Given the description of an element on the screen output the (x, y) to click on. 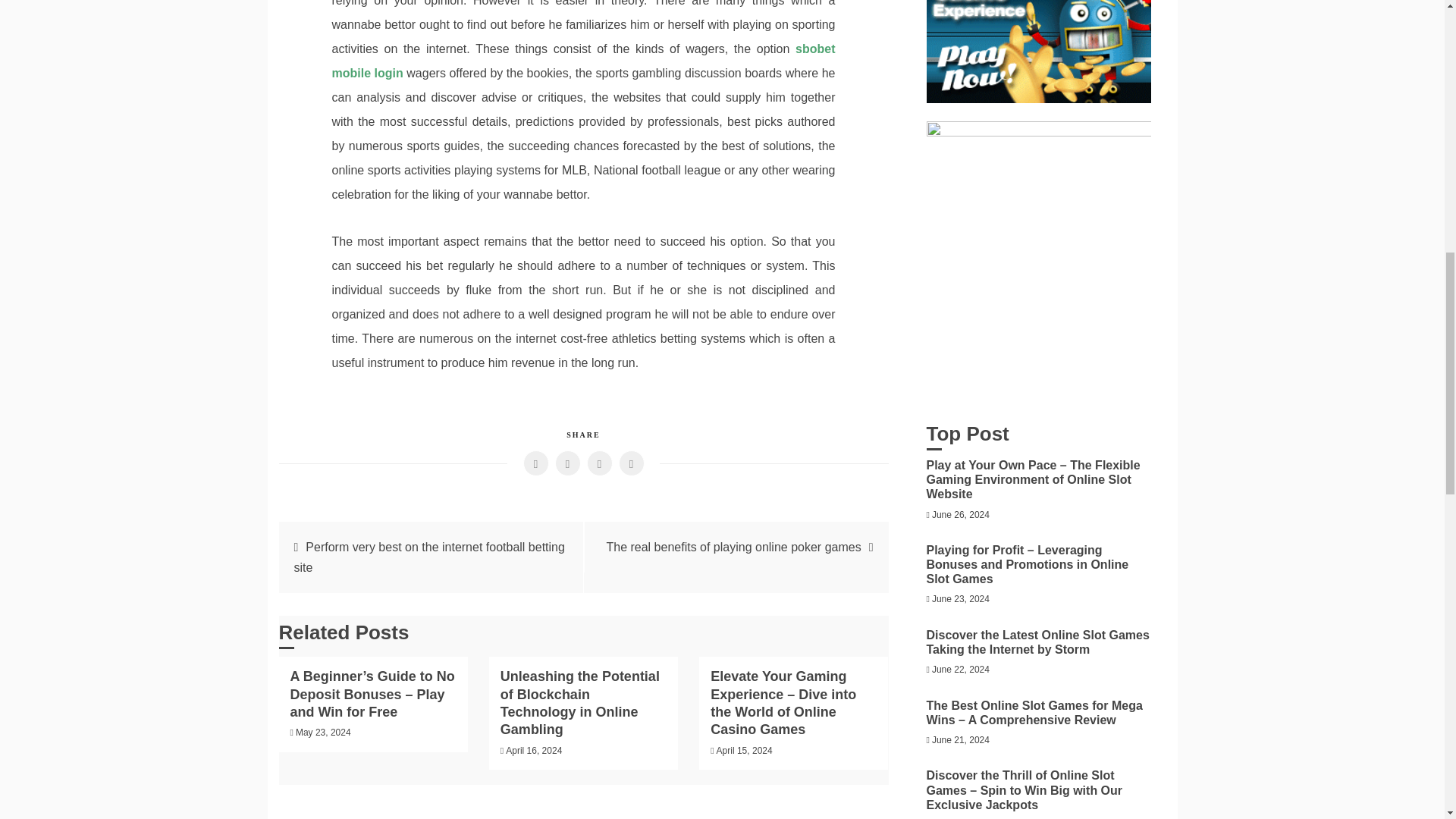
Perform very best on the internet football betting site (429, 557)
June 23, 2024 (960, 598)
June 26, 2024 (960, 514)
May 23, 2024 (322, 732)
April 16, 2024 (533, 750)
April 15, 2024 (744, 750)
The real benefits of playing online poker games (732, 546)
sbobet mobile login (583, 60)
